Given the description of an element on the screen output the (x, y) to click on. 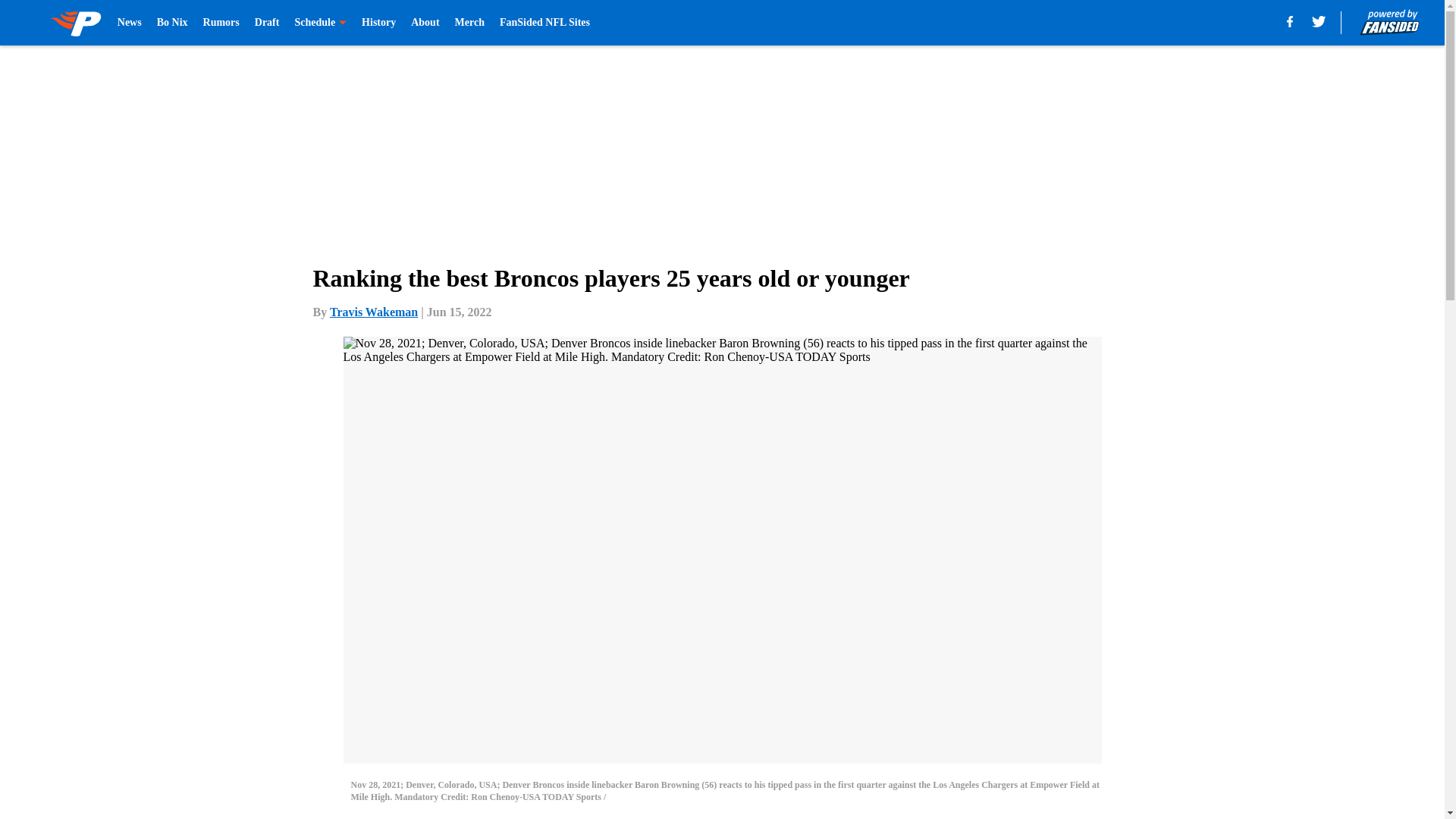
History (378, 22)
Merch (469, 22)
Bo Nix (172, 22)
News (129, 22)
FanSided NFL Sites (544, 22)
Travis Wakeman (373, 311)
About (424, 22)
Rumors (221, 22)
Draft (266, 22)
